Given the description of an element on the screen output the (x, y) to click on. 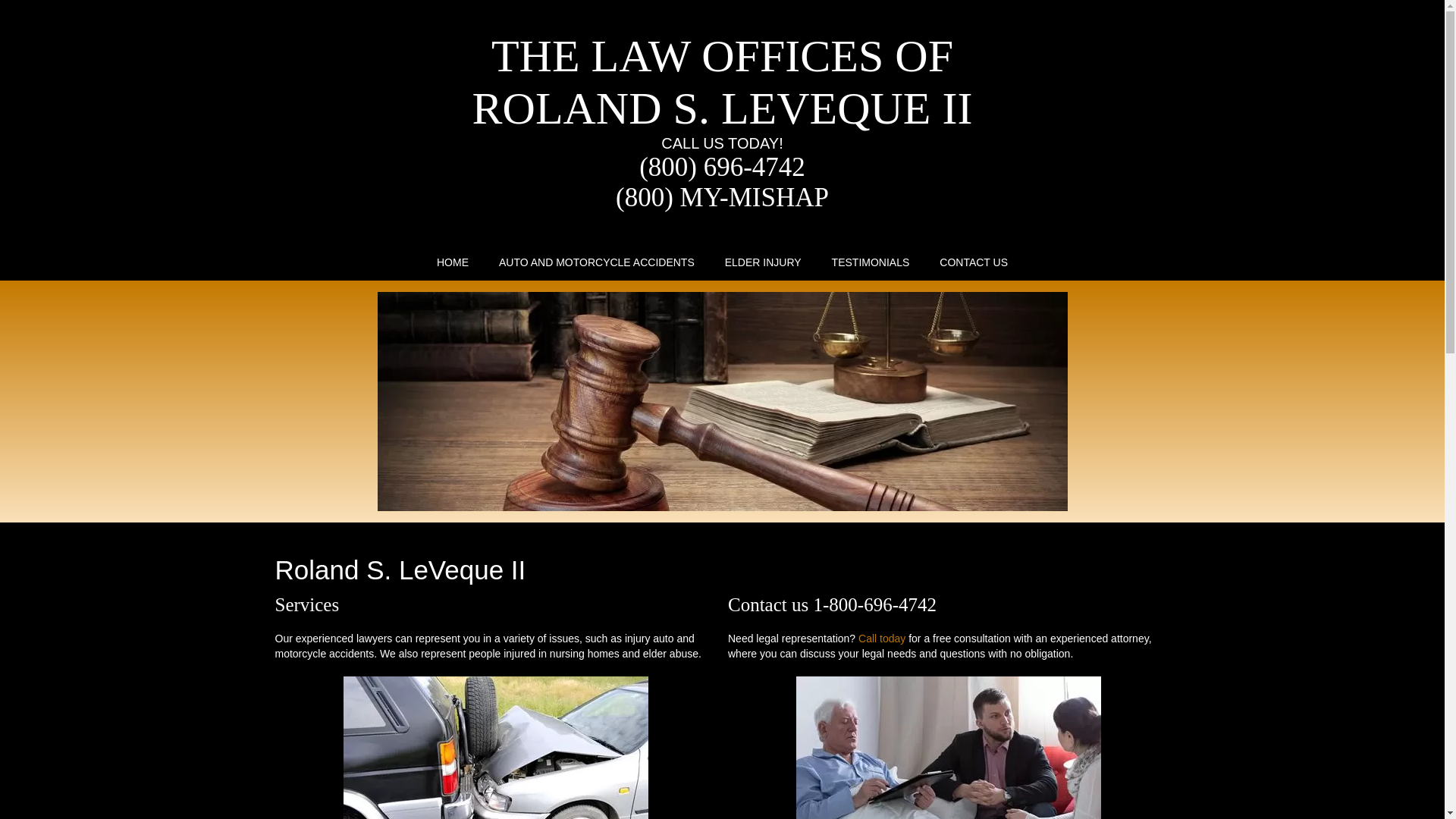
HOME Element type: text (452, 261)
1-800-696-4742 Element type: text (873, 604)
AUTO AND MOTORCYCLE ACCIDENTS Element type: text (596, 261)
Call today Element type: text (881, 638)
ELDER INJURY Element type: text (762, 261)
TESTIMONIALS Element type: text (870, 261)
(800) 696-4742 Element type: text (722, 167)
CONTACT US Element type: text (973, 261)
